Given the description of an element on the screen output the (x, y) to click on. 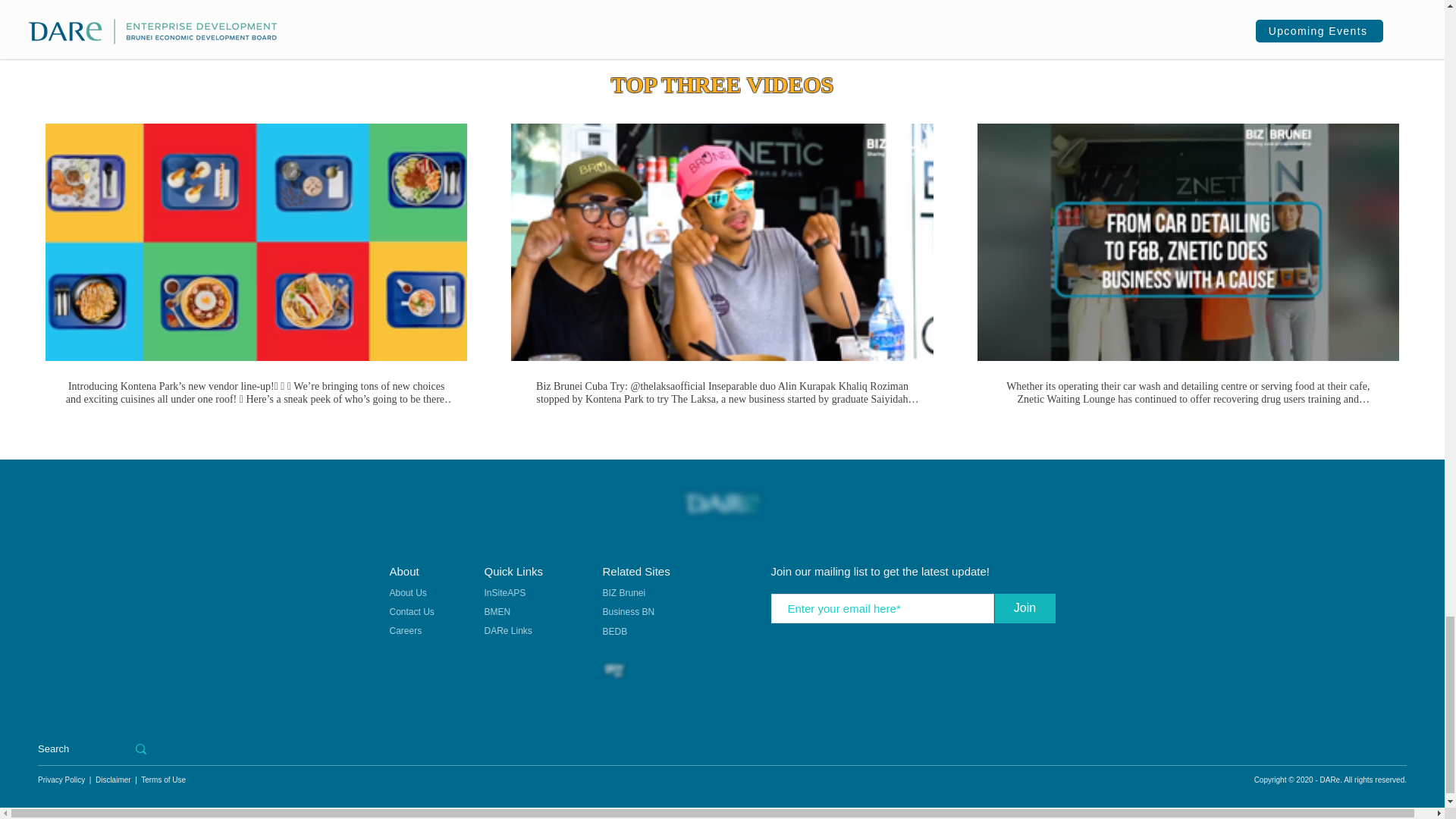
Join (1024, 608)
BMEN (497, 612)
Privacy Policy  (62, 779)
Business BN (629, 612)
InSiteAPS (504, 593)
DARe Links (507, 631)
Terms of Use (163, 779)
Contact Us (426, 612)
Disclaimer  (114, 779)
